Given the description of an element on the screen output the (x, y) to click on. 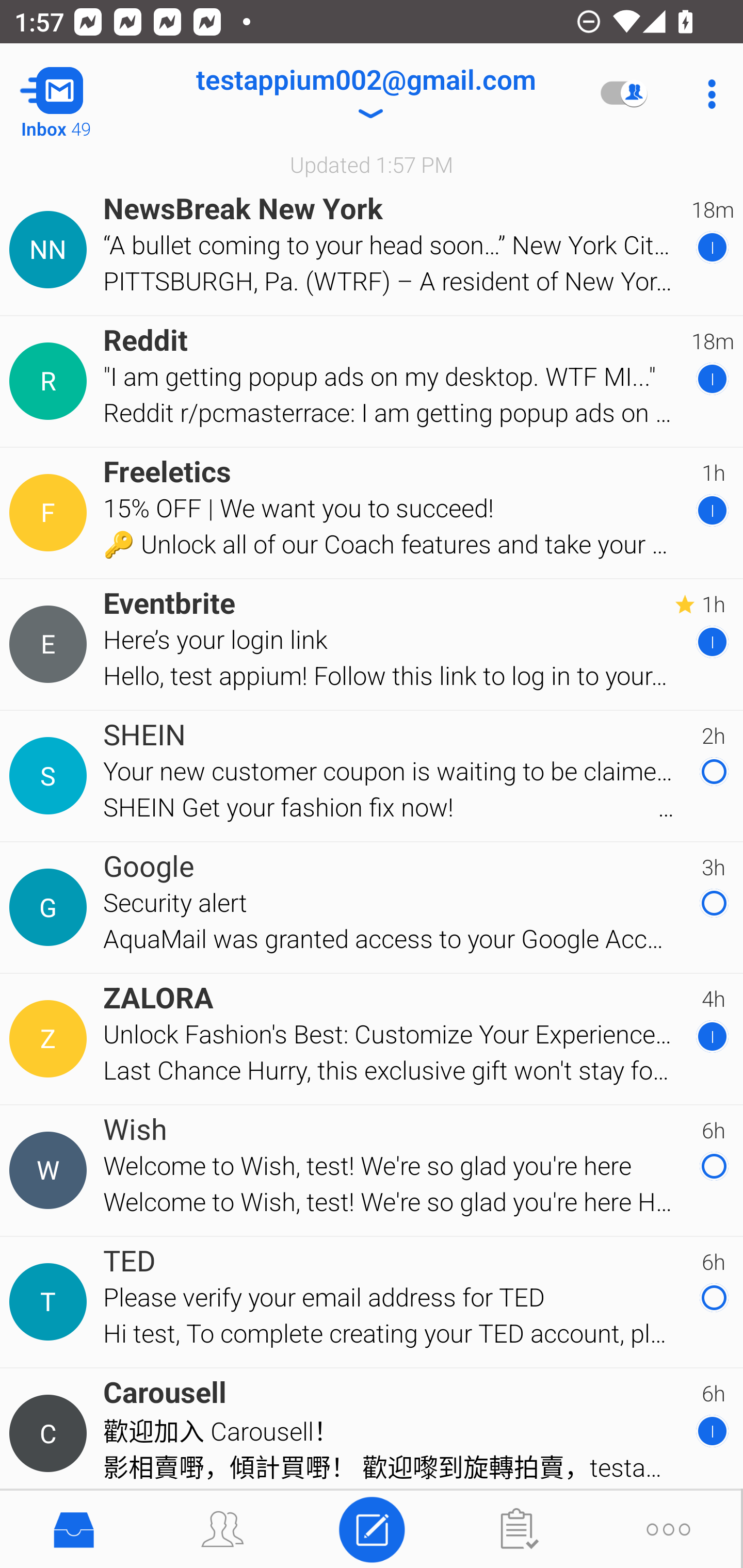
Navigate up (81, 93)
testappium002@gmail.com (365, 93)
More Options (706, 93)
Updated 1:57 PM (371, 164)
Contact Details (50, 250)
Contact Details (50, 381)
Contact Details (50, 513)
Contact Details (50, 644)
Contact Details (50, 776)
Contact Details (50, 907)
Contact Details (50, 1038)
Contact Details (50, 1170)
Contact Details (50, 1302)
Contact Details (50, 1433)
